Given the description of an element on the screen output the (x, y) to click on. 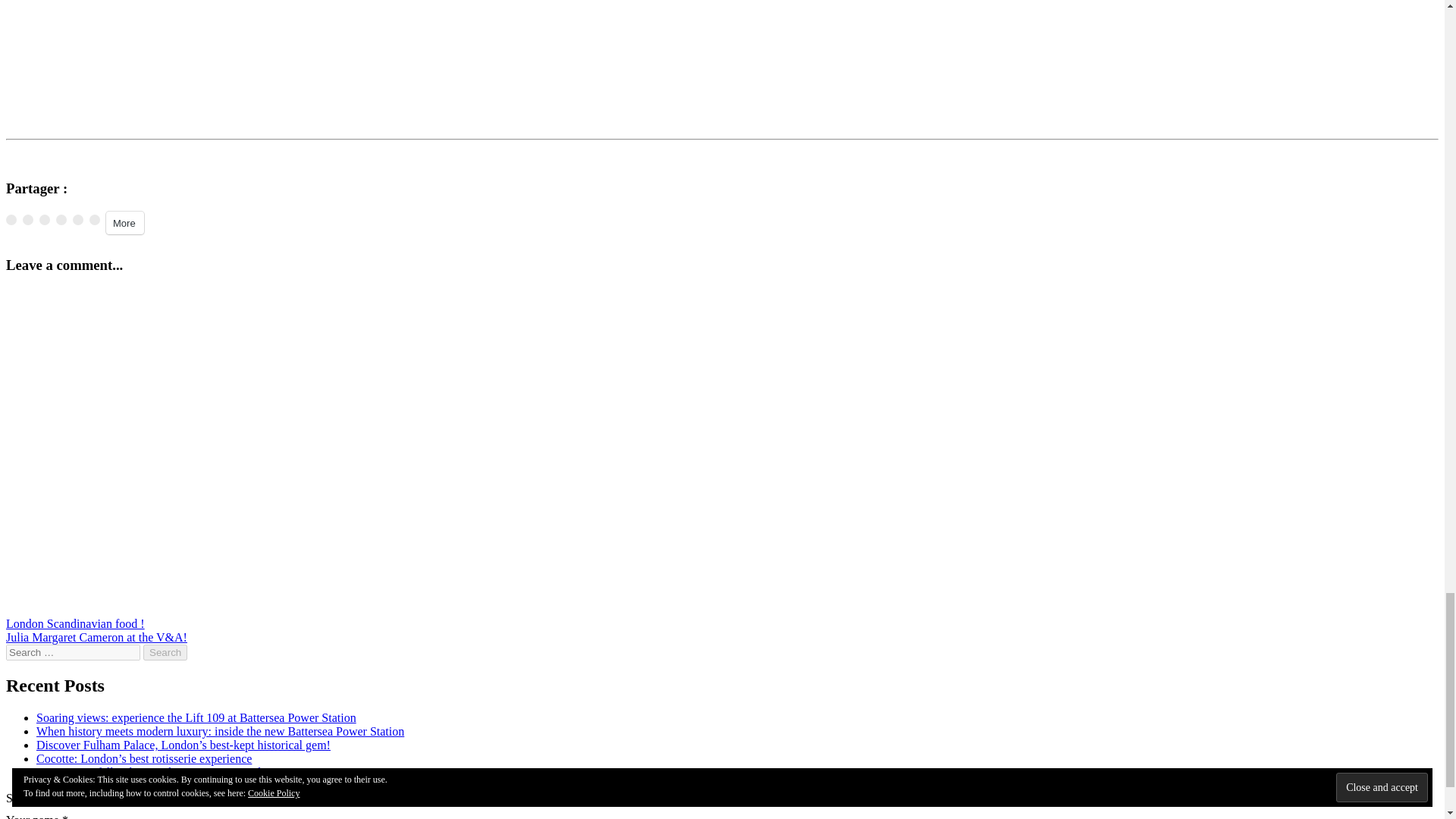
Click to share on WhatsApp (94, 219)
Click to share on Pinterest (61, 219)
Search (164, 652)
Click to share on Facebook (44, 219)
Click to email a link to a friend (10, 219)
Click to share on LinkedIn (77, 219)
Search (164, 652)
Click to print (28, 219)
